Given the description of an element on the screen output the (x, y) to click on. 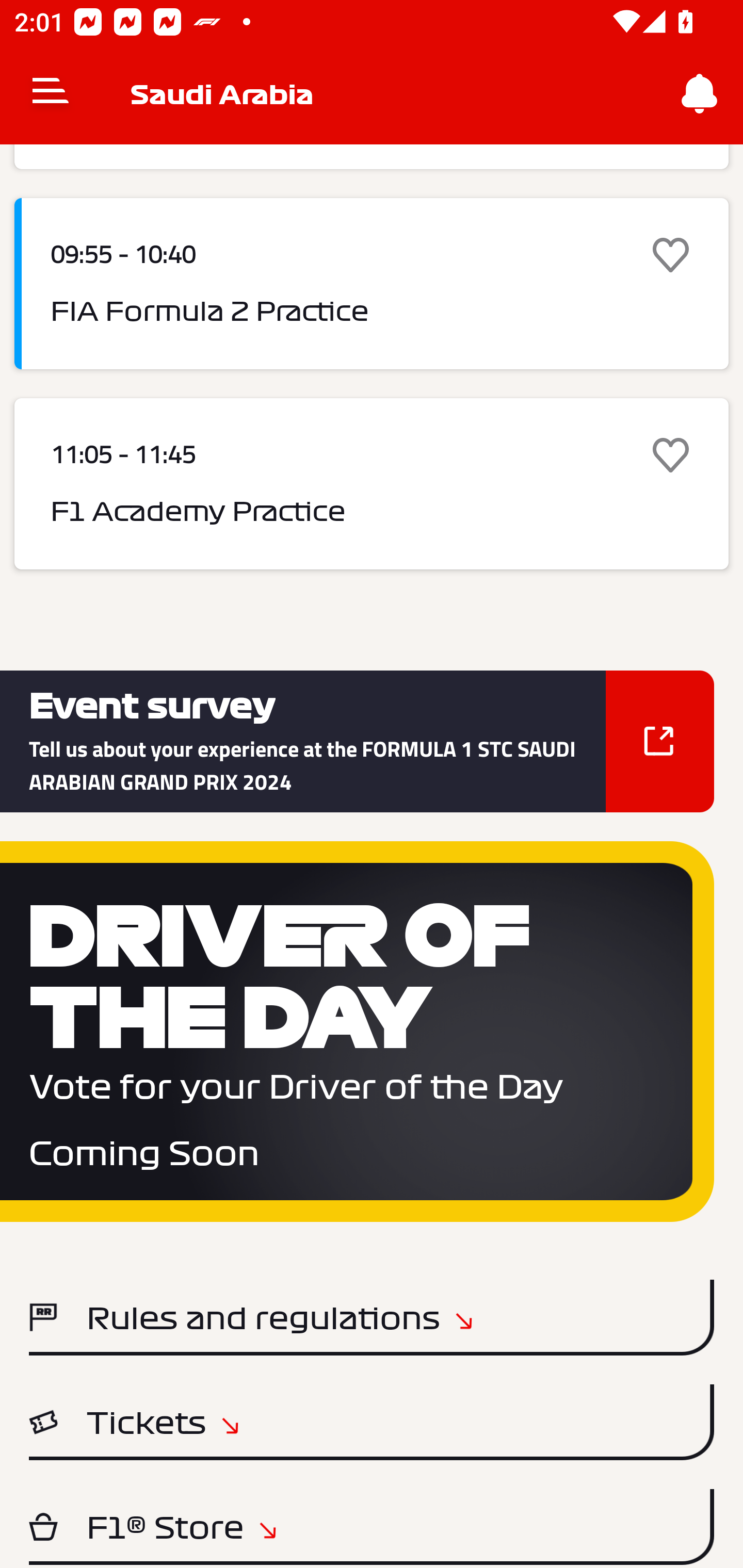
Navigate up (50, 93)
Notifications (699, 93)
09:55 - 10:40 FIA Formula 2 Practice (371, 283)
11:05 - 11:45 F1 Academy Practice (371, 483)
Rules and regulations (371, 1316)
Tickets (371, 1421)
F1® Store (371, 1526)
